Given the description of an element on the screen output the (x, y) to click on. 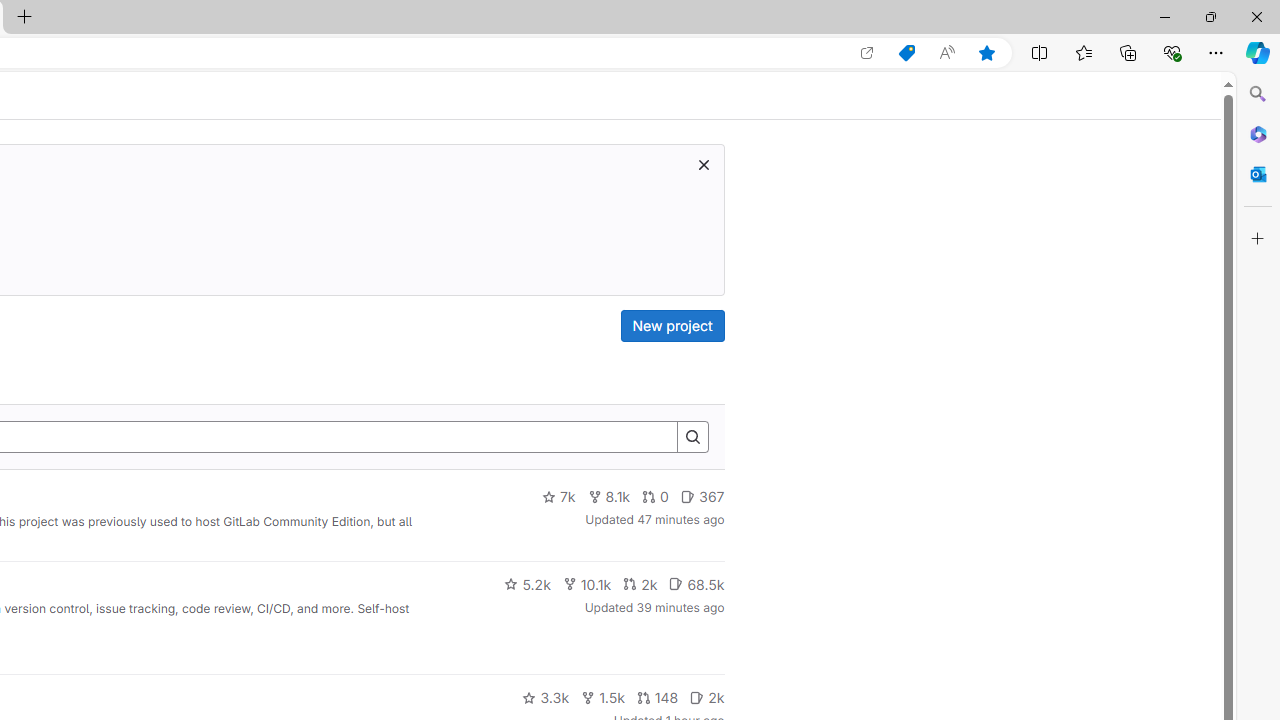
148 (657, 697)
367 (701, 497)
Open in app (867, 53)
Dismiss trial promotion (703, 164)
New project (671, 326)
8.1k (609, 497)
